Given the description of an element on the screen output the (x, y) to click on. 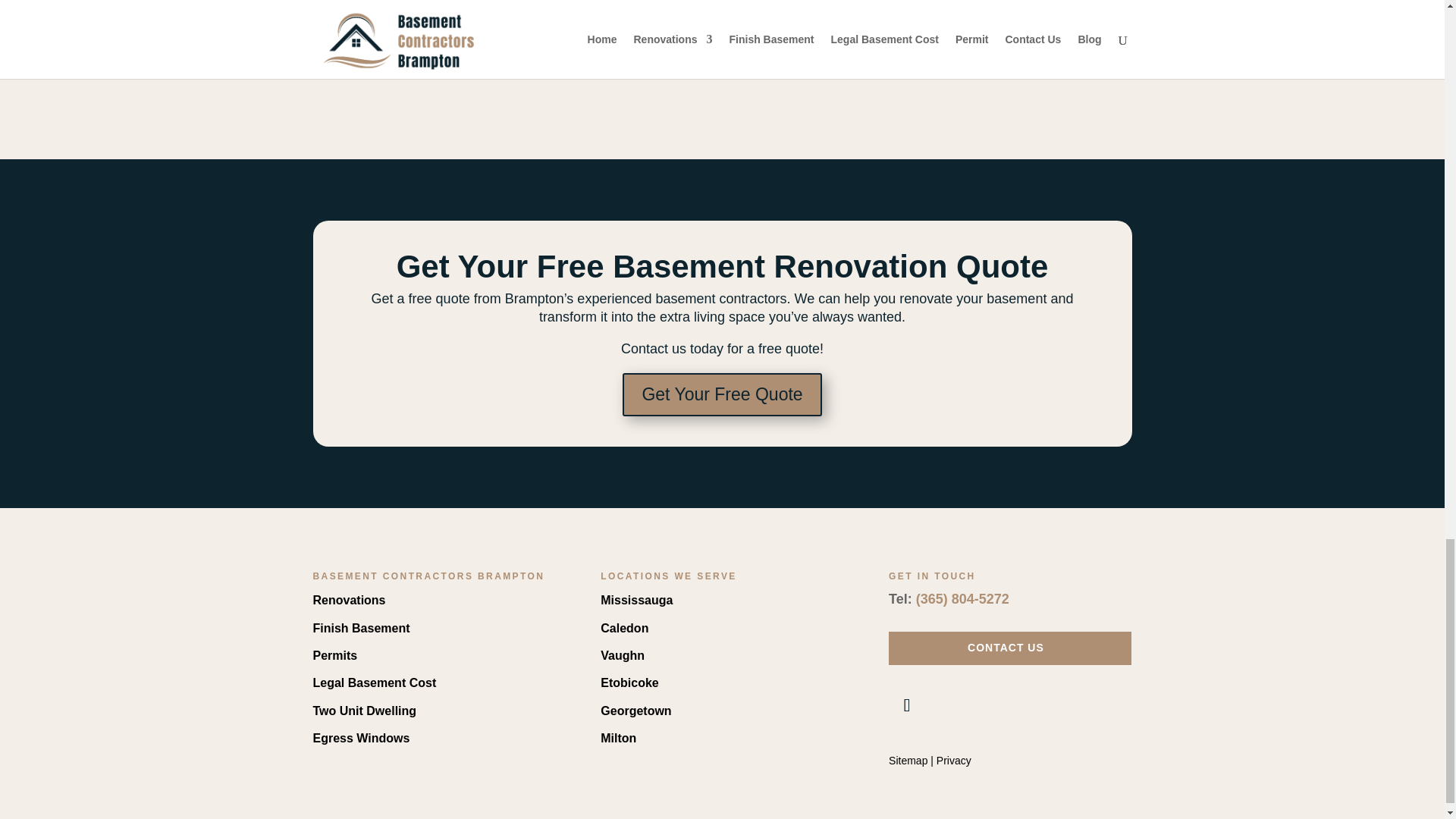
Vaughn (622, 655)
Egress Windows (361, 738)
Etobicoke (628, 682)
Georgetown (635, 710)
Renovations (349, 599)
Get Your Free Quote (722, 394)
Caledon (623, 627)
Mississauga (635, 599)
Finish Basement (361, 627)
Two Unit Dwelling (364, 710)
Legal Basement Cost (374, 682)
Permits (334, 655)
Follow on Facebook (906, 705)
